Given the description of an element on the screen output the (x, y) to click on. 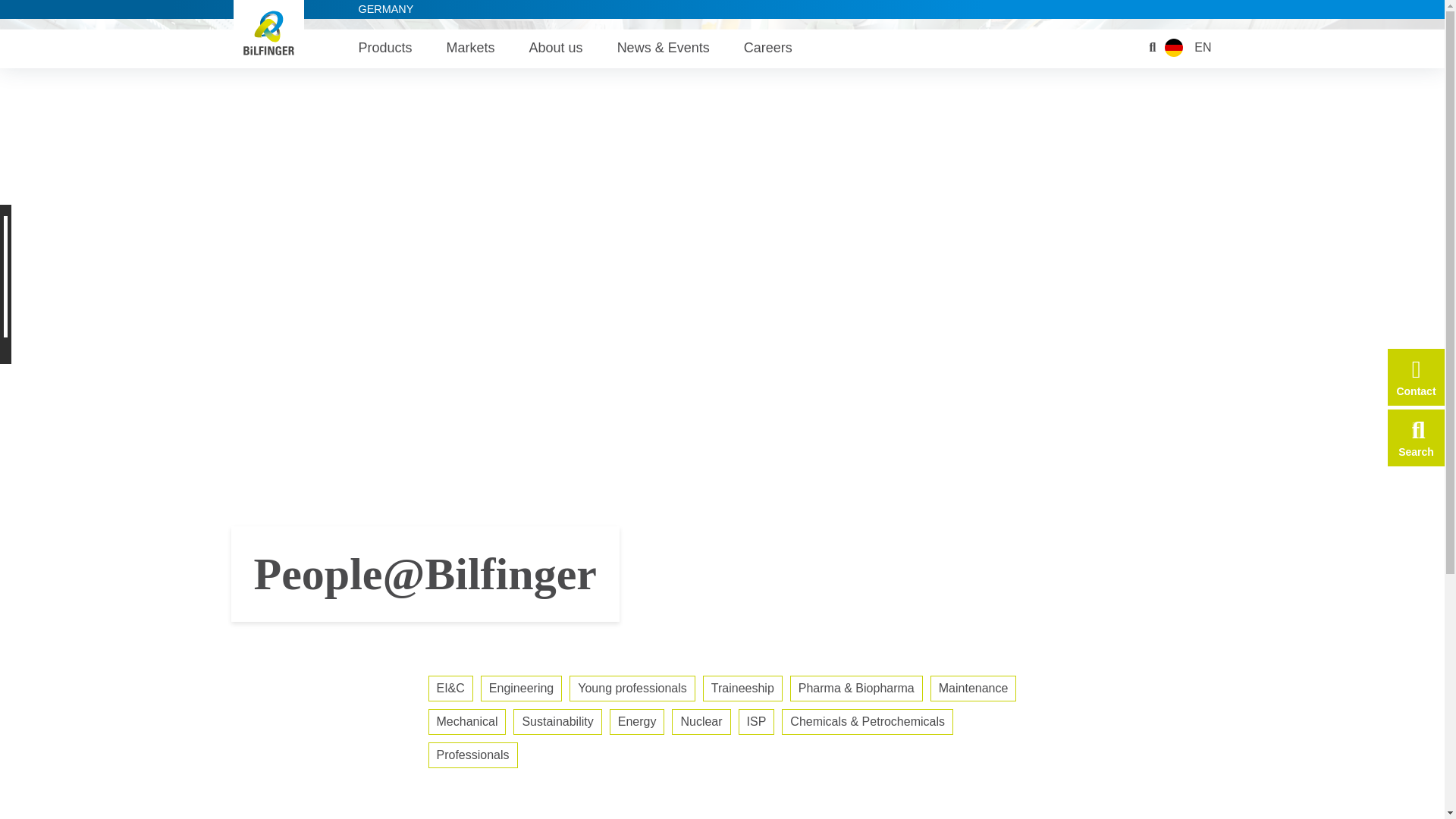
Products (385, 52)
English (1173, 52)
Careers (768, 52)
About us (556, 52)
Markets (470, 52)
English (1202, 52)
Careers (768, 52)
Products (385, 52)
About us (556, 52)
EN (1202, 52)
Markets (470, 52)
